Given the description of an element on the screen output the (x, y) to click on. 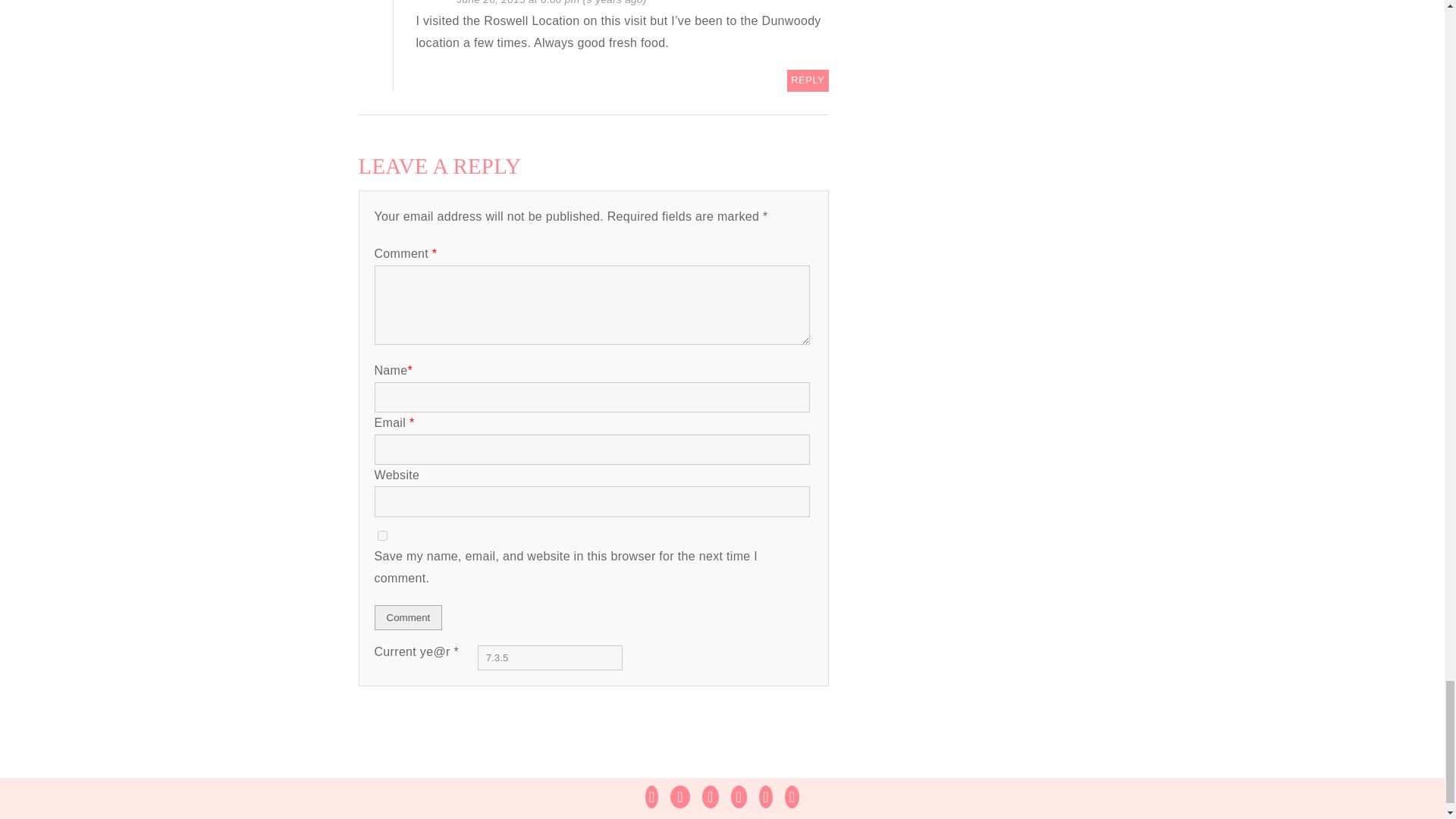
REPLY (807, 80)
Comment (408, 617)
yes (382, 535)
7.3.5 (550, 657)
Comment (408, 617)
